Given the description of an element on the screen output the (x, y) to click on. 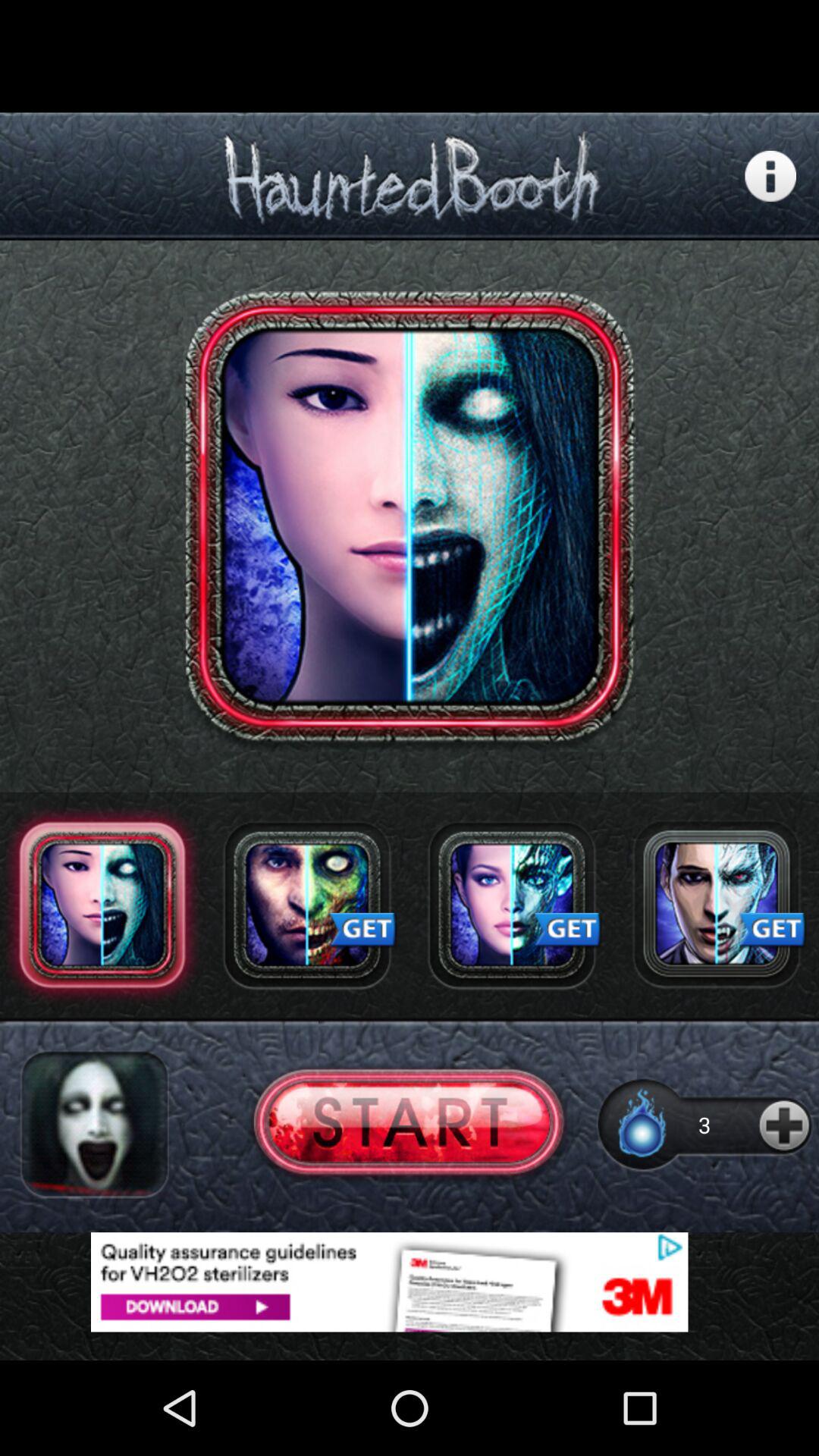
open advertisement (716, 904)
